Given the description of an element on the screen output the (x, y) to click on. 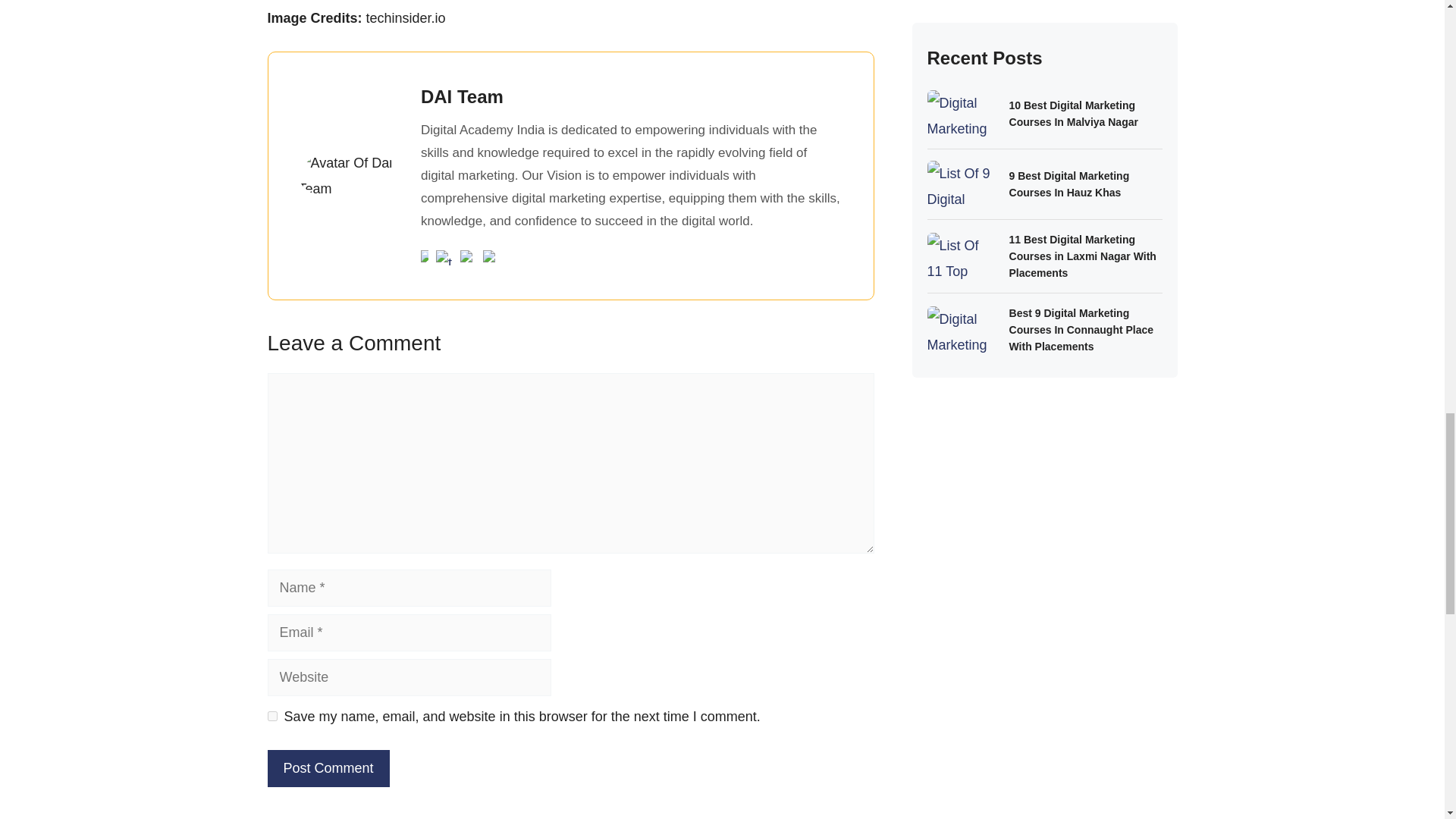
Post Comment (327, 768)
Post Comment (327, 768)
yes (271, 716)
